Given the description of an element on the screen output the (x, y) to click on. 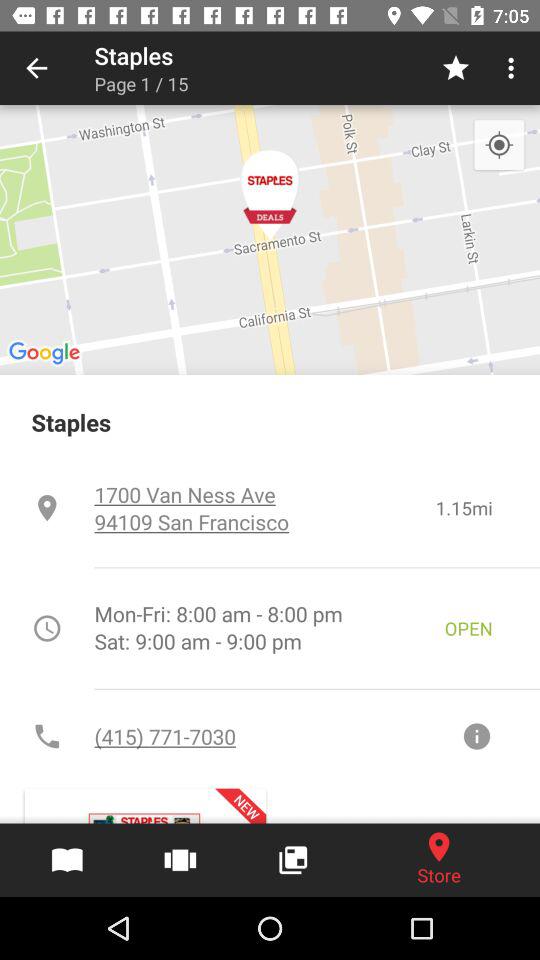
open the item next to the staples item (36, 68)
